Given the description of an element on the screen output the (x, y) to click on. 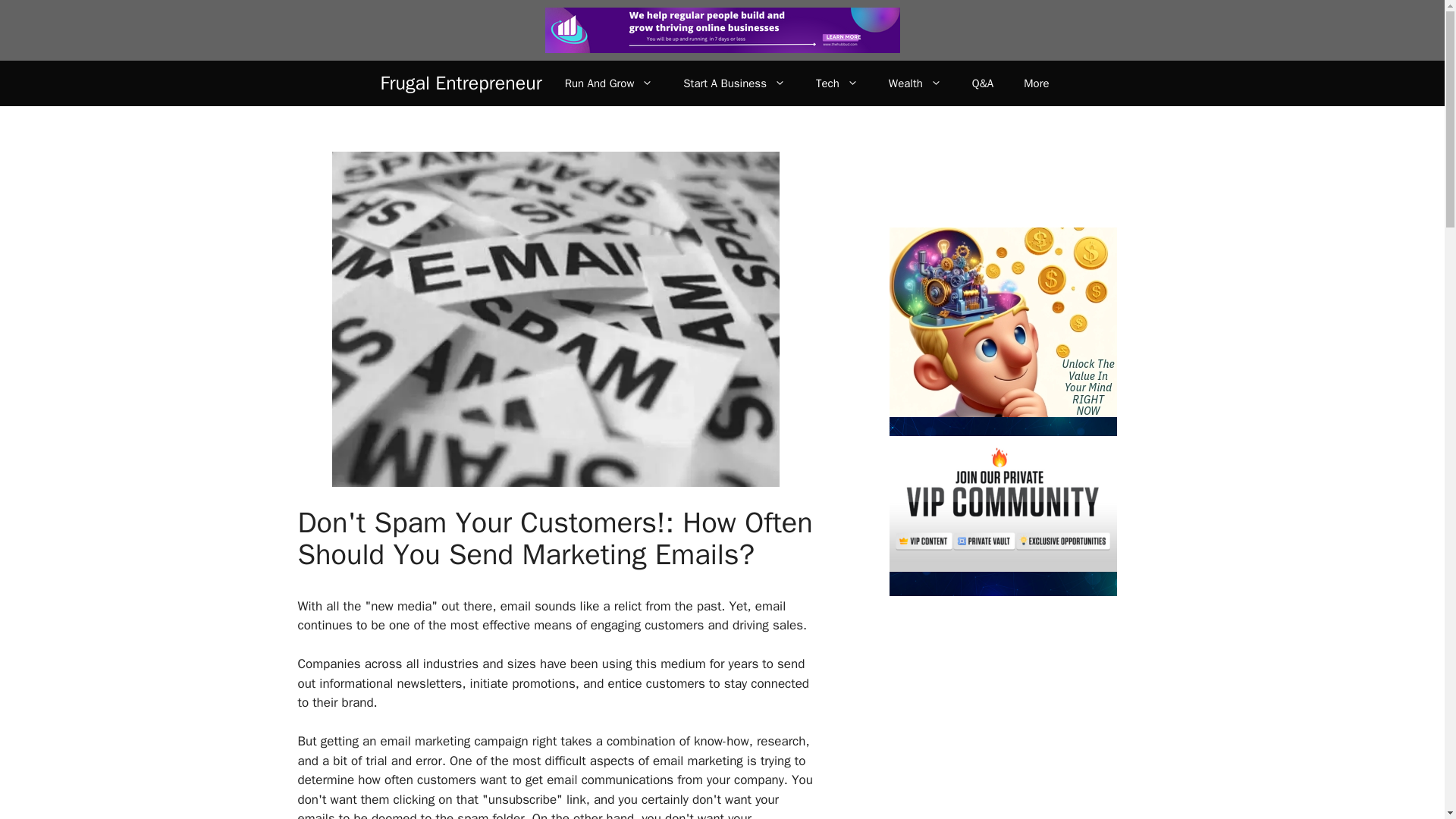
Frugal Entrepreneur (460, 83)
Start A Business (734, 83)
Run And Grow (609, 83)
Tech (836, 83)
